Given the description of an element on the screen output the (x, y) to click on. 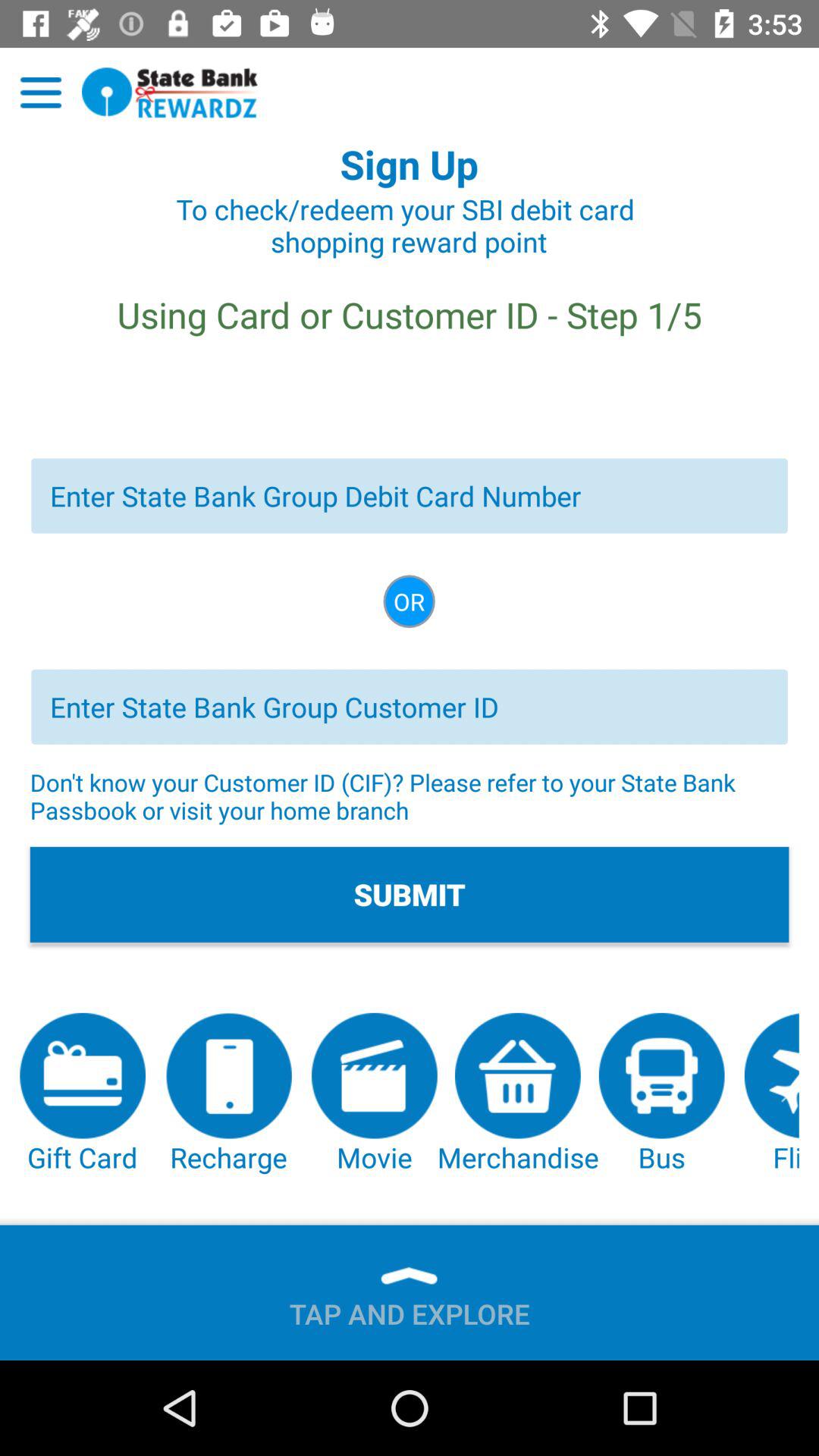
swipe to the movie app (374, 1094)
